Given the description of an element on the screen output the (x, y) to click on. 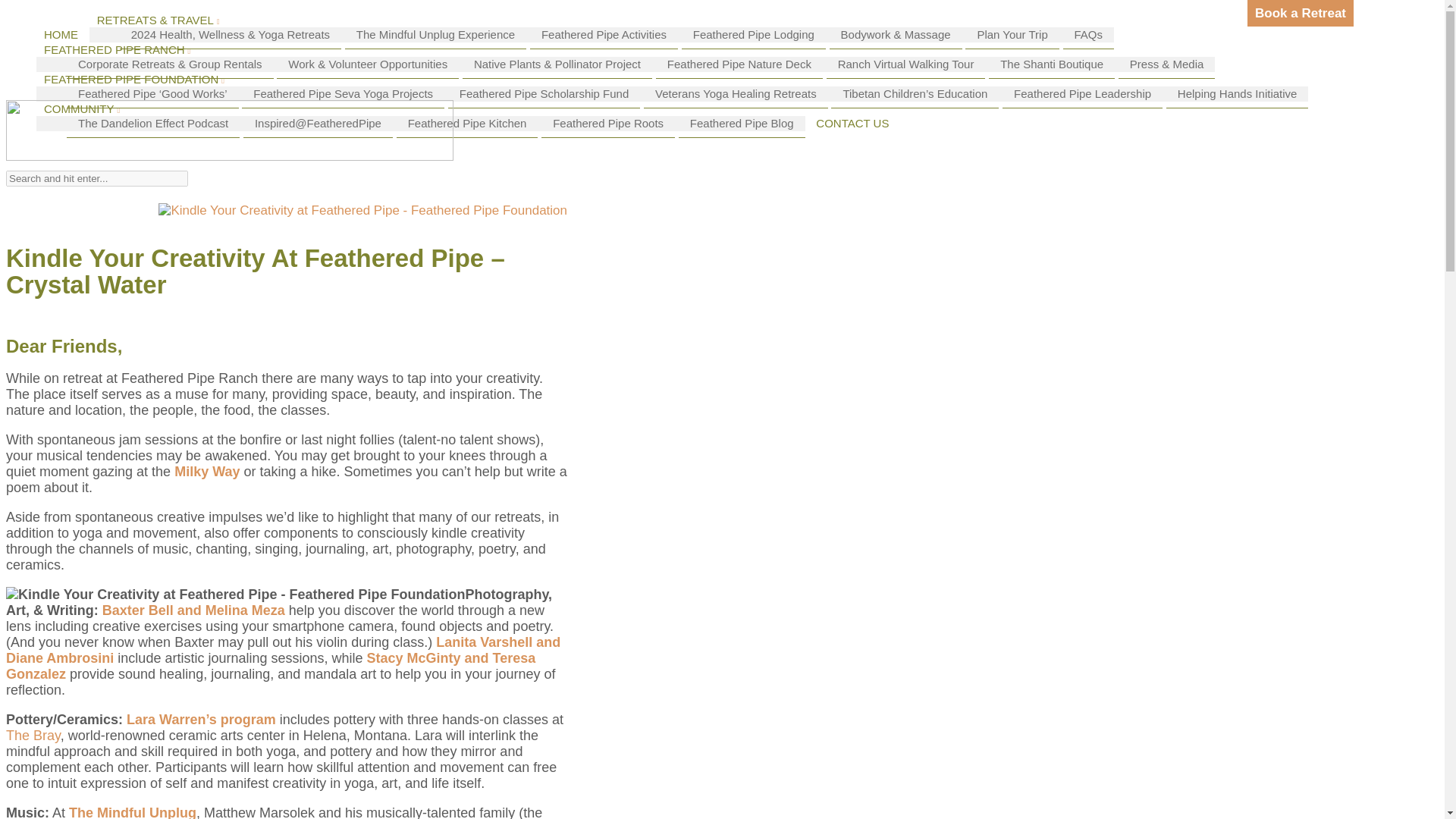
FEATHERED PIPE RANCH (113, 49)
Feathered Pipe Nature Deck (739, 63)
The Dandelion Effect Podcast (153, 123)
FAQs (1088, 34)
Milky Way (207, 471)
The Mindful Unplug Experience (435, 34)
Feathered Pipe Kitchen (467, 123)
FEATHERED PIPE FOUNDATION (130, 79)
Feathered Pipe Roots (608, 123)
Feathered Pipe Scholarship Fund (544, 93)
Helping Hands Initiative (1237, 93)
Feathered Pipe Blog (741, 123)
Veterans Yoga Healing Retreats (735, 93)
Plan Your Trip (1011, 34)
COMMUNITY (77, 108)
